Given the description of an element on the screen output the (x, y) to click on. 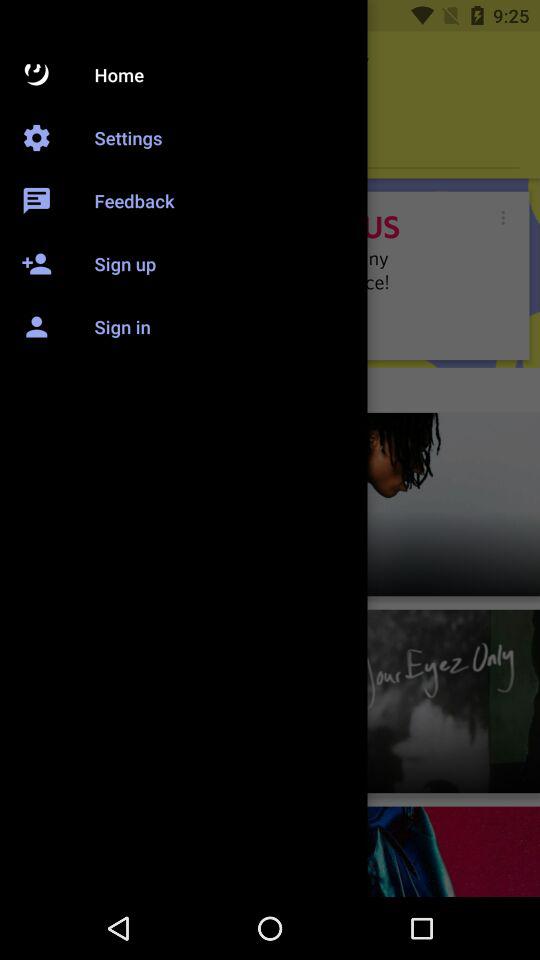
click on settings which is below home (269, 141)
select the icon which is left side of the sign in (41, 317)
